Given the description of an element on the screen output the (x, y) to click on. 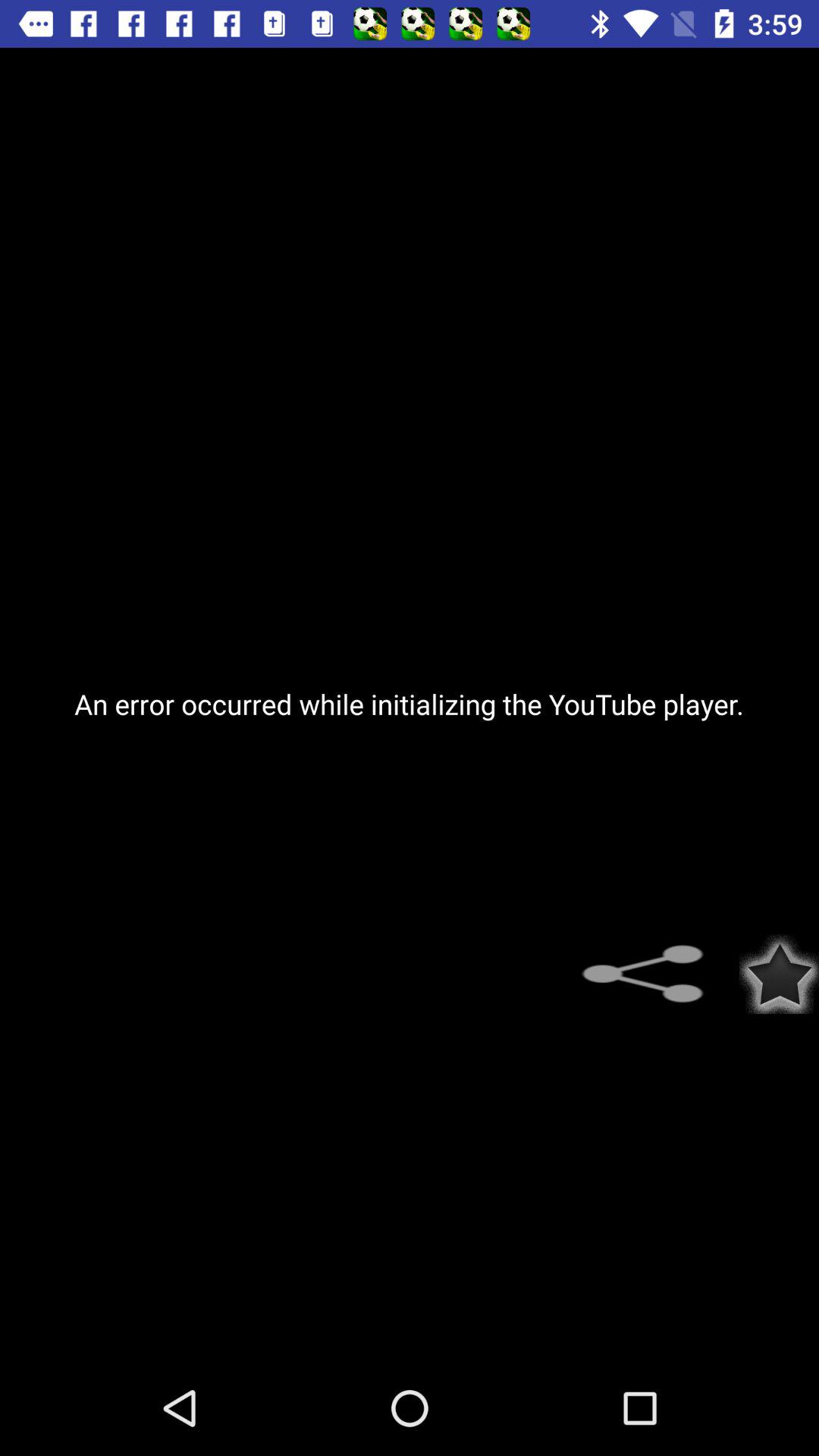
go to share (651, 974)
